Given the description of an element on the screen output the (x, y) to click on. 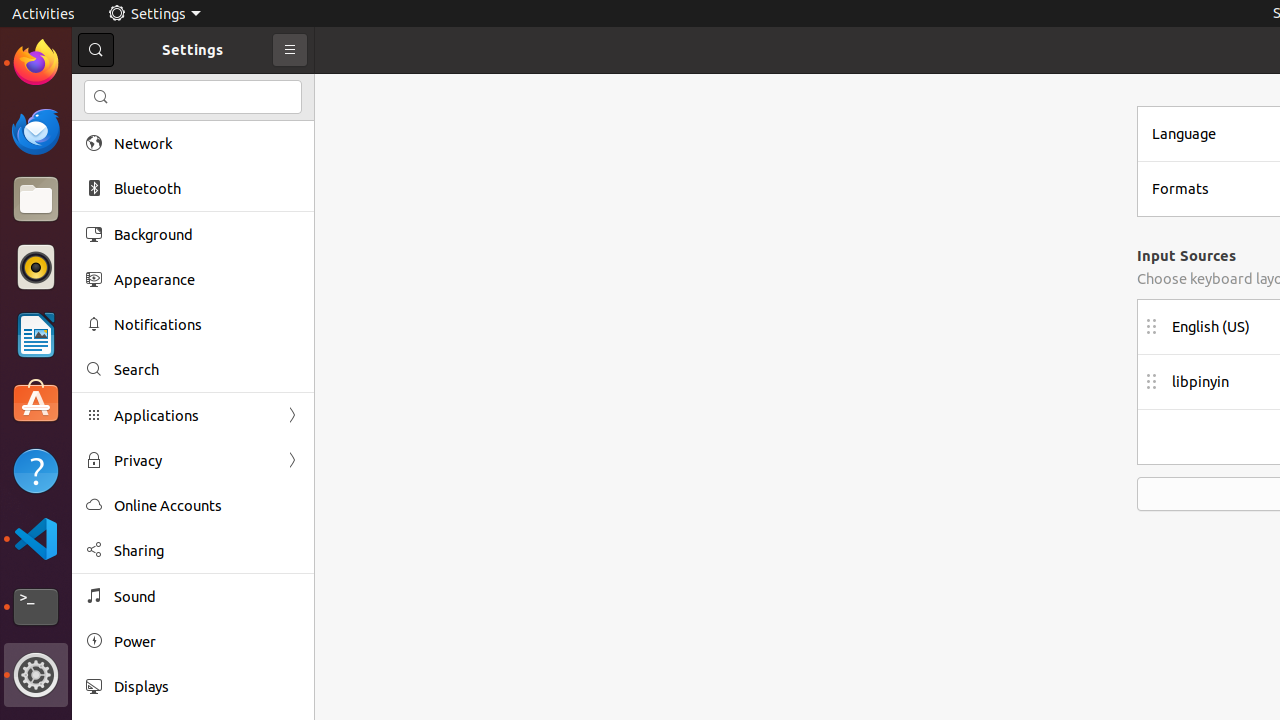
Activities Element type: label (43, 13)
Sharing Element type: label (207, 550)
Bluetooth Element type: label (207, 188)
Power Element type: label (207, 641)
